Given the description of an element on the screen output the (x, y) to click on. 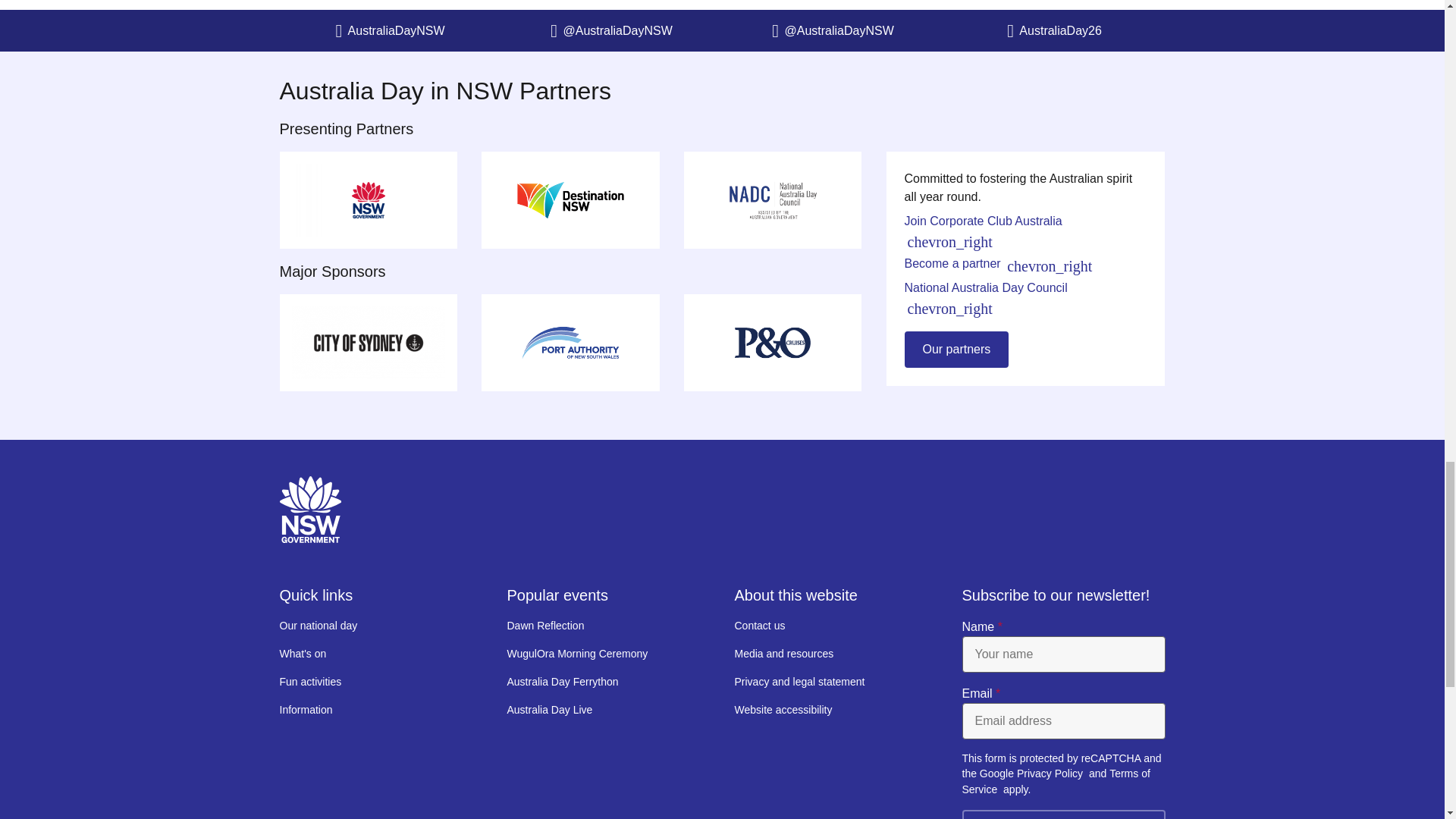
Destination NSW (570, 199)
Follow us on service (1053, 30)
Follow us on service (832, 30)
Follow us on service (389, 30)
Port Authority of NSW (570, 342)
City of Sydney (368, 343)
Name (1062, 654)
Email (1062, 720)
National Australia Day Council (772, 199)
NSW Government (368, 199)
Follow us on service (611, 30)
